Given the description of an element on the screen output the (x, y) to click on. 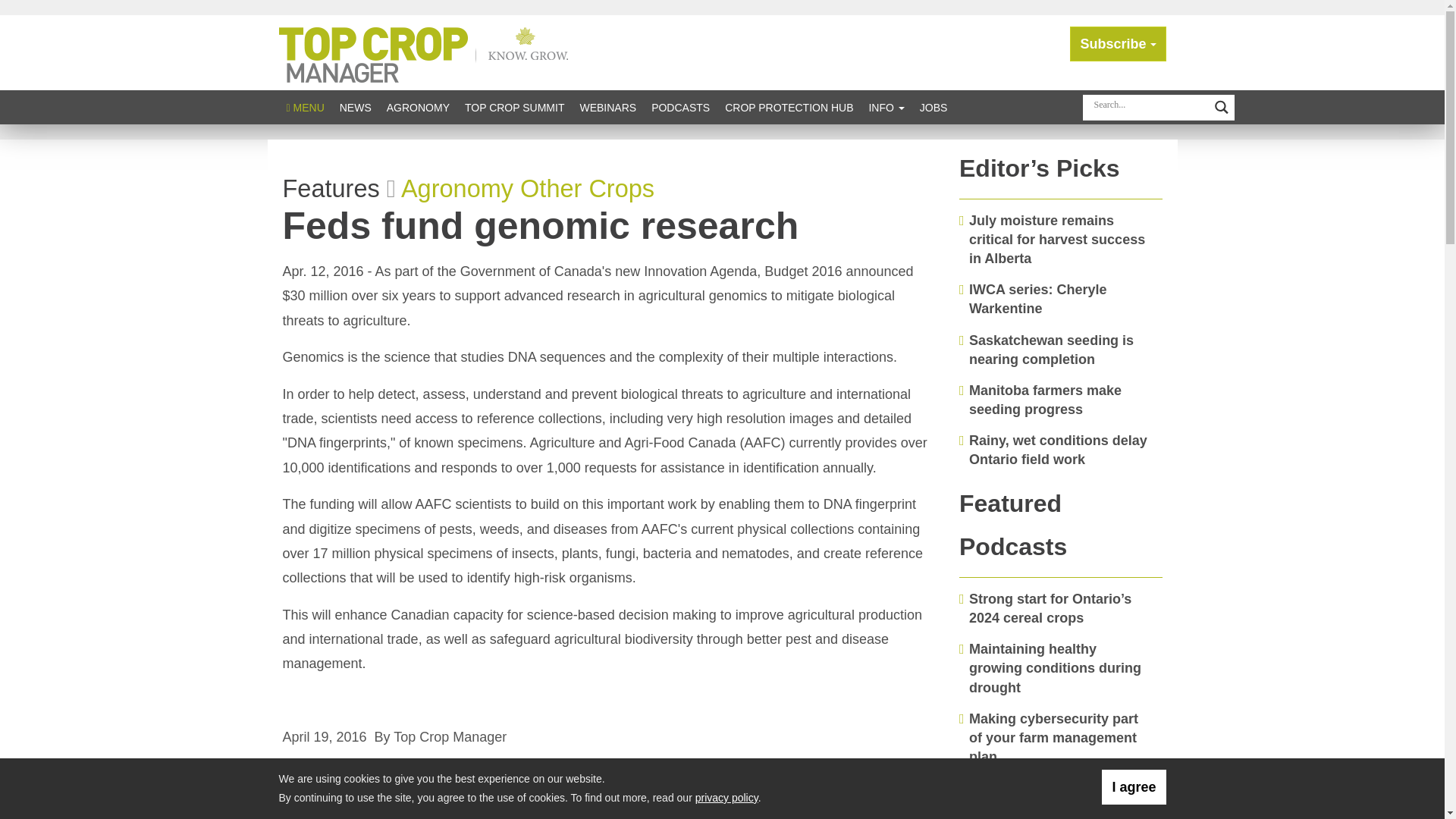
Subscribe (1118, 43)
PODCASTS (680, 107)
TOP CROP SUMMIT (514, 107)
JOBS (933, 107)
Top Crop Manager (427, 51)
AGRONOMY (417, 107)
CROP PROTECTION HUB (788, 107)
WEBINARS (607, 107)
INFO (885, 107)
Click to show site navigation (305, 107)
MENU (305, 107)
NEWS (354, 107)
